Given the description of an element on the screen output the (x, y) to click on. 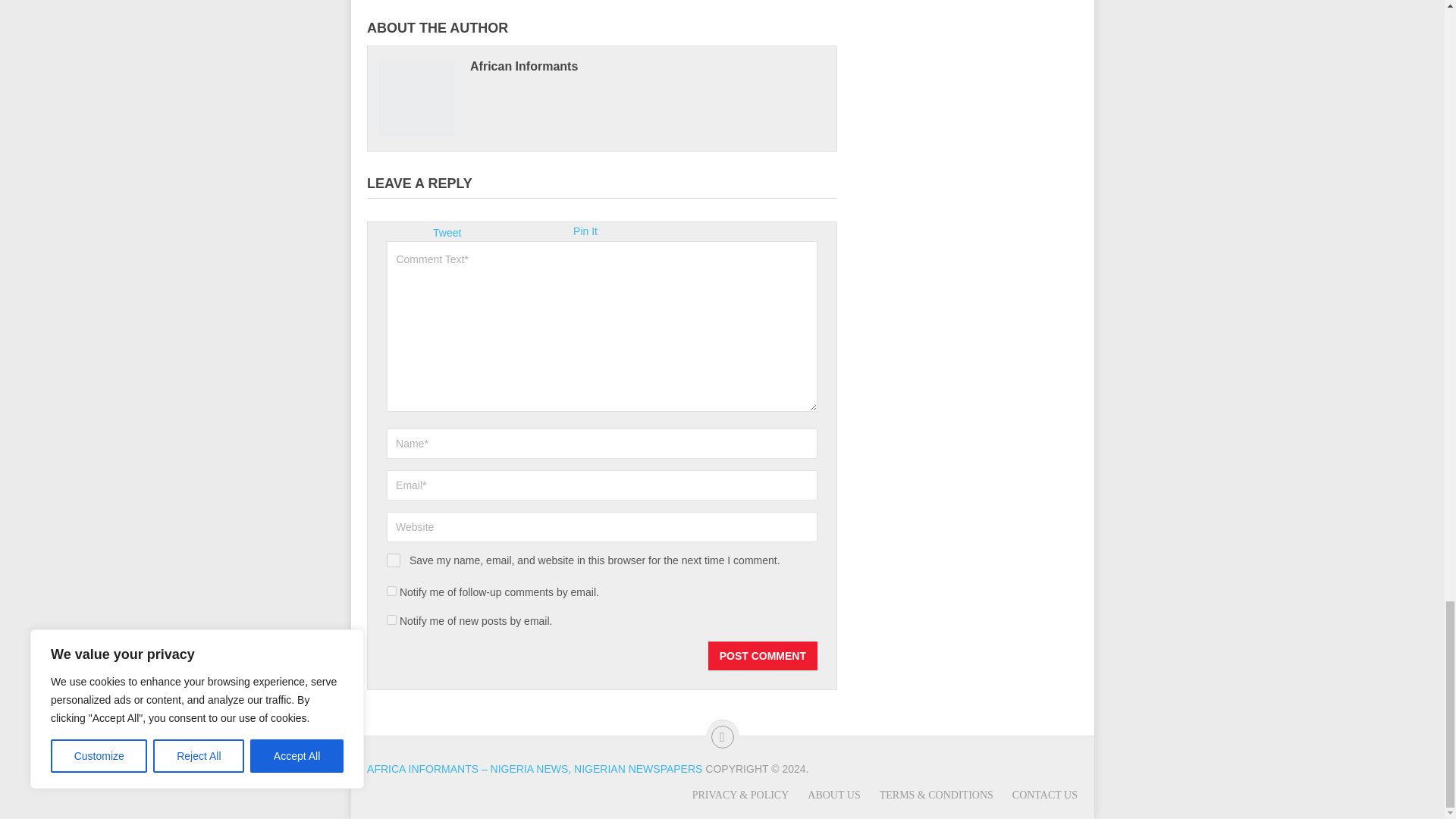
yes (393, 560)
subscribe (391, 619)
subscribe (391, 591)
Post Comment (761, 655)
